Given the description of an element on the screen output the (x, y) to click on. 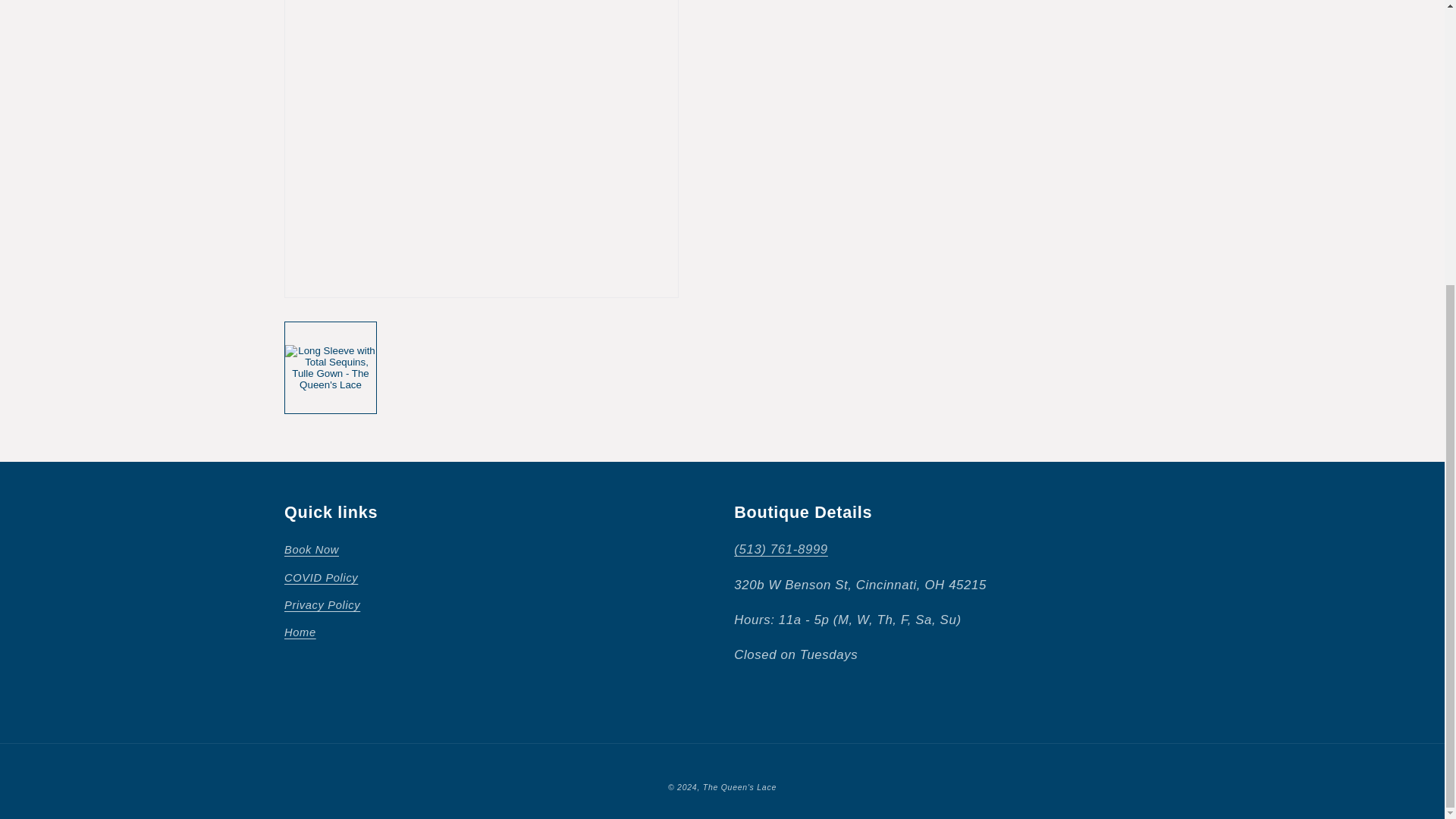
COVID Policy (320, 577)
The Queen's Lace phone number (780, 549)
Book Now (311, 552)
Privacy Policy (321, 605)
Home (299, 633)
